Given the description of an element on the screen output the (x, y) to click on. 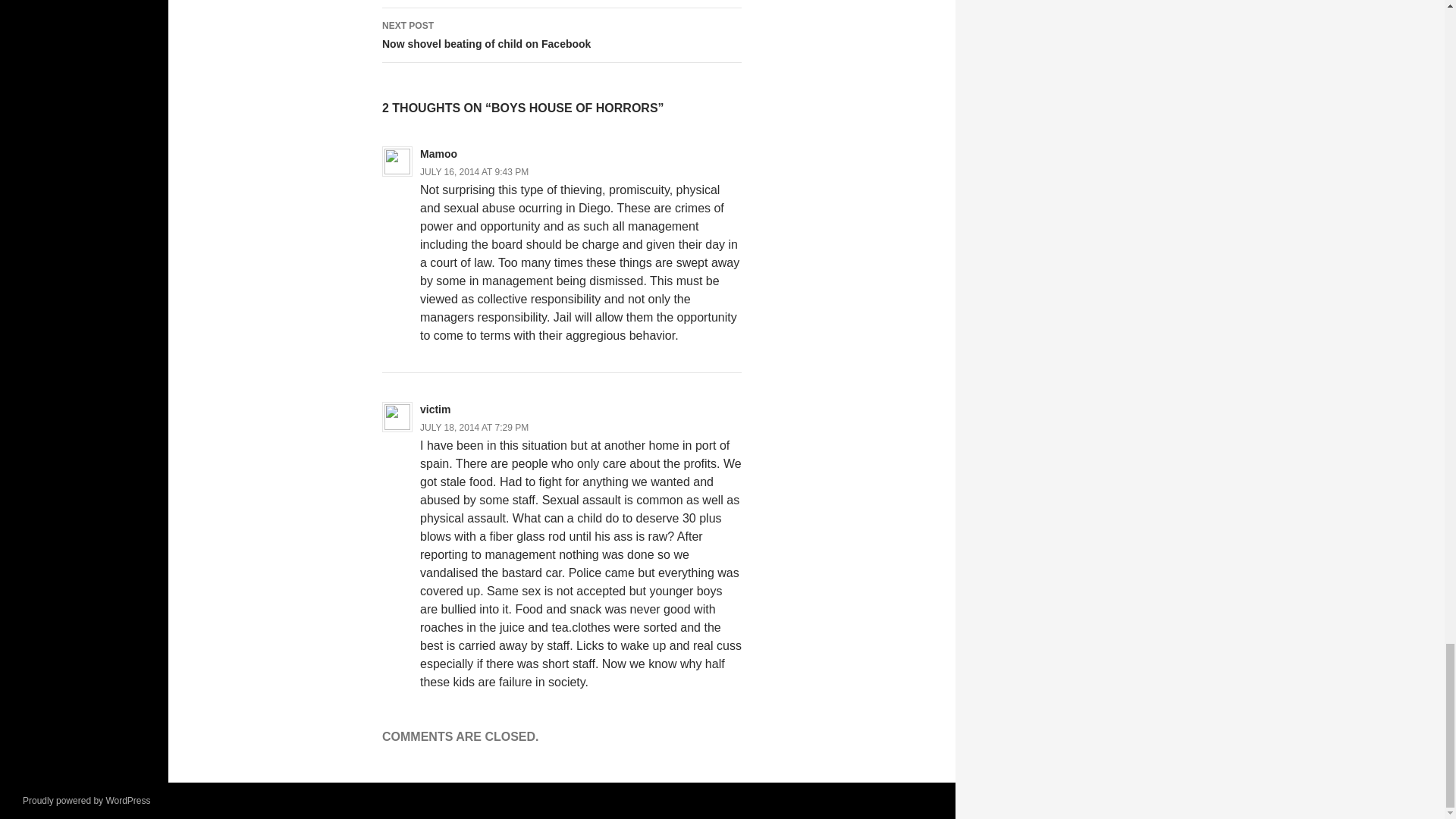
JULY 18, 2014 AT 7:29 PM (561, 4)
JULY 16, 2014 AT 9:43 PM (474, 427)
